Given the description of an element on the screen output the (x, y) to click on. 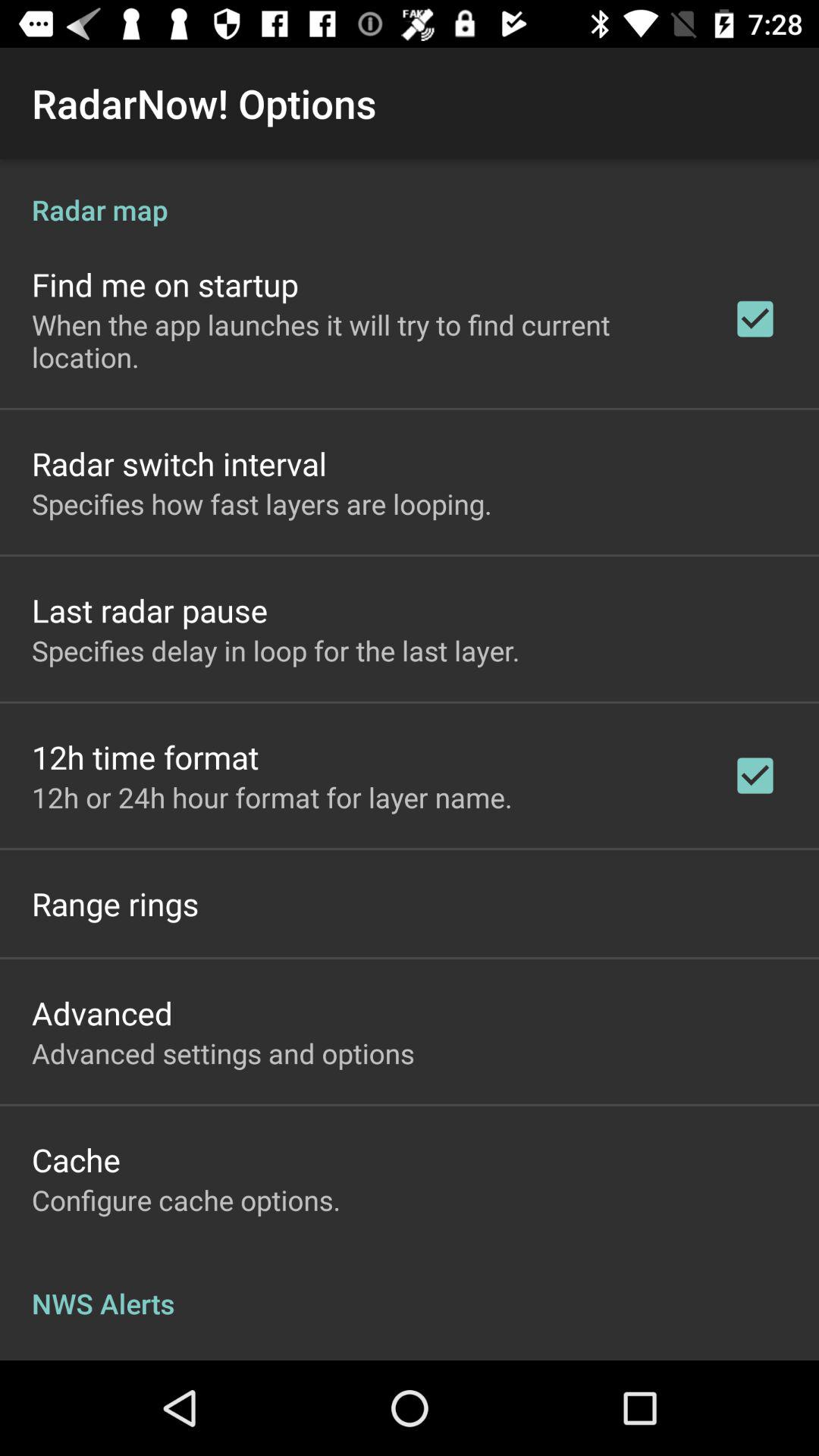
turn off the item below the last radar pause (275, 650)
